Given the description of an element on the screen output the (x, y) to click on. 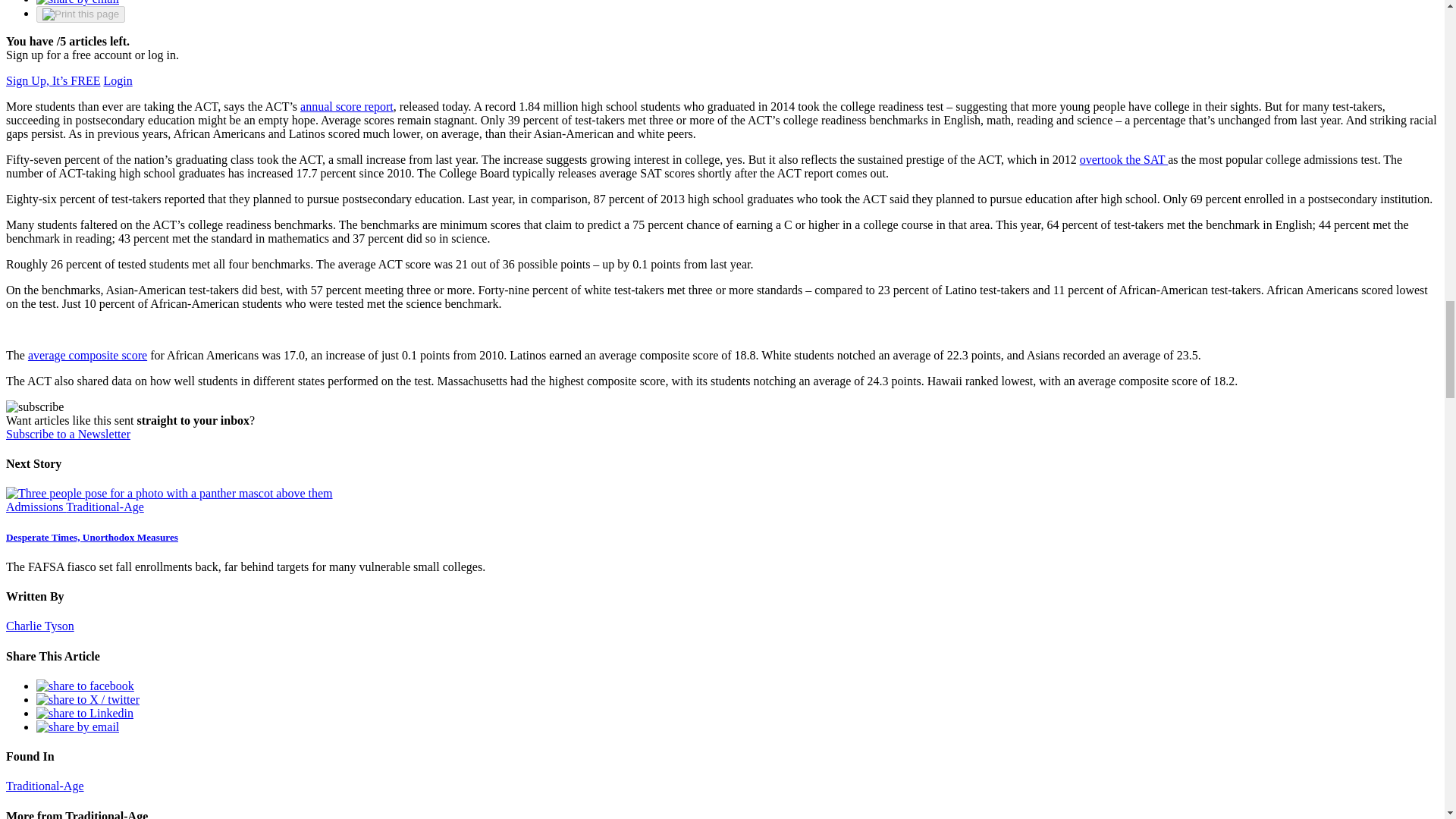
share by email (77, 2)
share to facebook (84, 685)
